Given the description of an element on the screen output the (x, y) to click on. 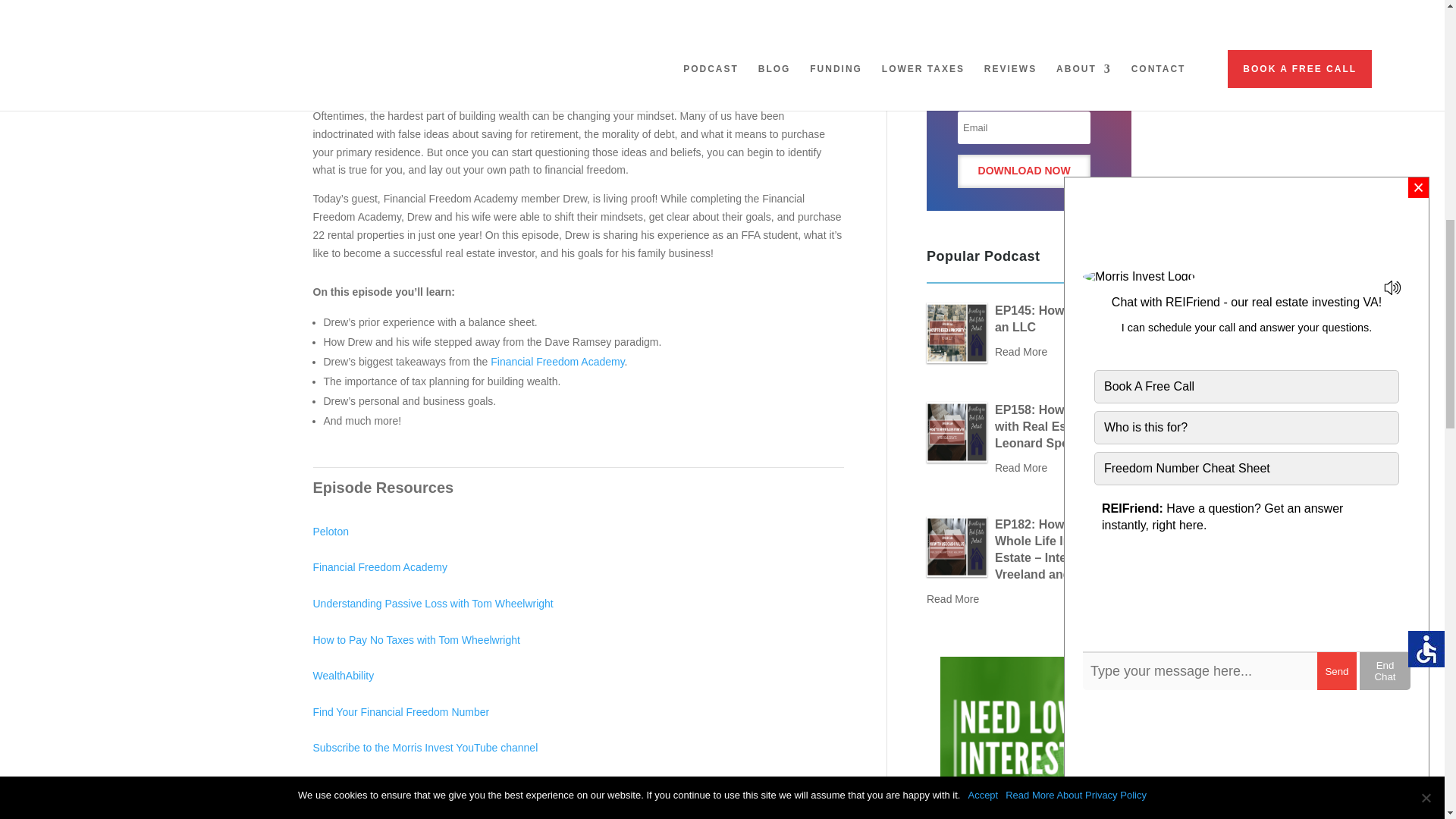
EP145: How to Deed a Property to an LLC (956, 332)
